Given the description of an element on the screen output the (x, y) to click on. 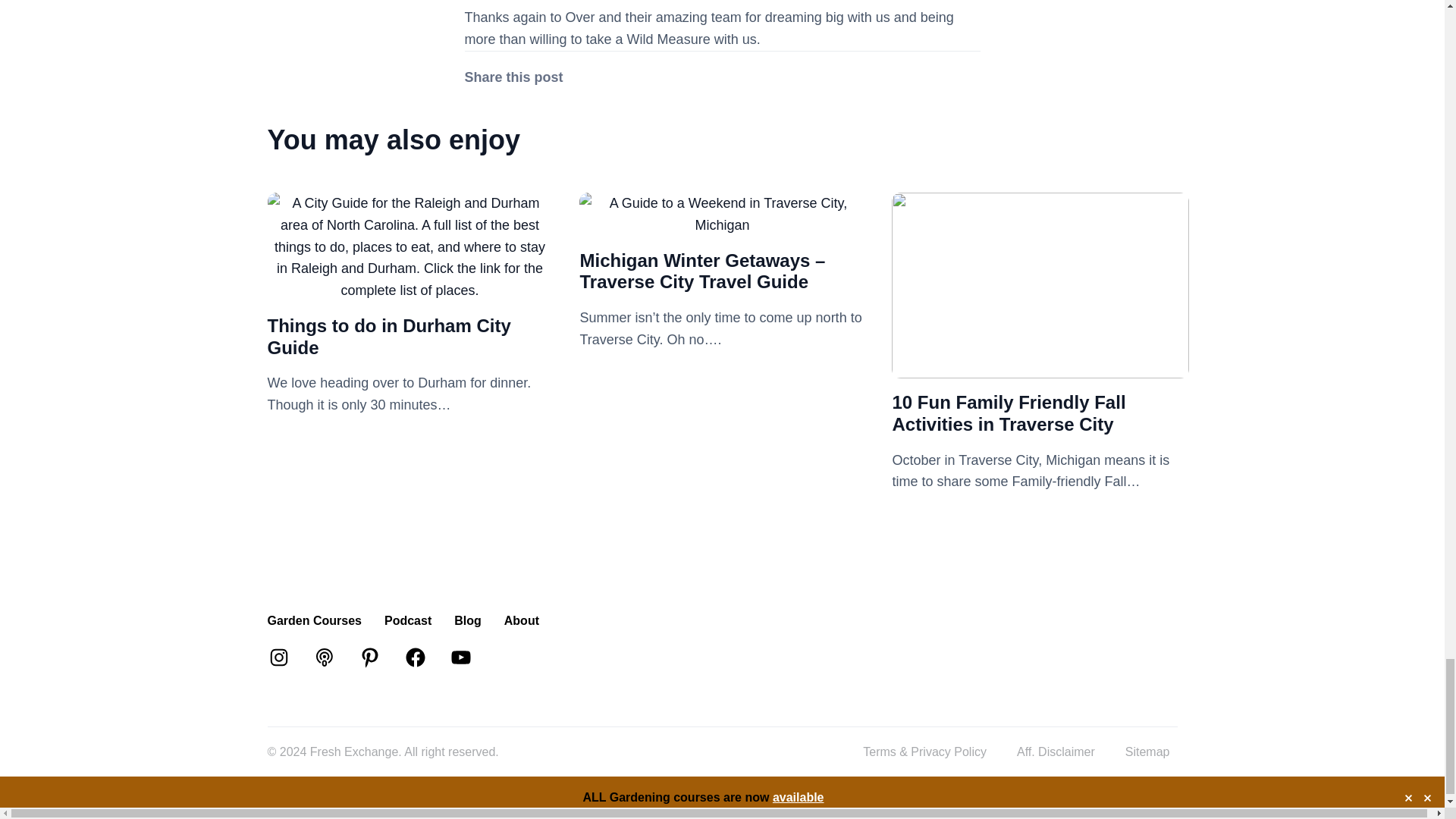
Instagram (277, 657)
Things to do in Durham City Guide (408, 290)
Aff. Disclaimer (1055, 751)
10 Fun Family Friendly Fall Activities in Traverse City (1008, 413)
Things to do in Durham City Guide (388, 336)
Pinterest (369, 657)
10 Fun Family Friendly Fall Activities in Traverse City (1040, 366)
YouTube (459, 657)
About (520, 620)
Facebook (414, 657)
Sitemap (1147, 751)
Podcast (407, 620)
Link (323, 657)
Blog (467, 620)
Garden Courses (313, 620)
